Given the description of an element on the screen output the (x, y) to click on. 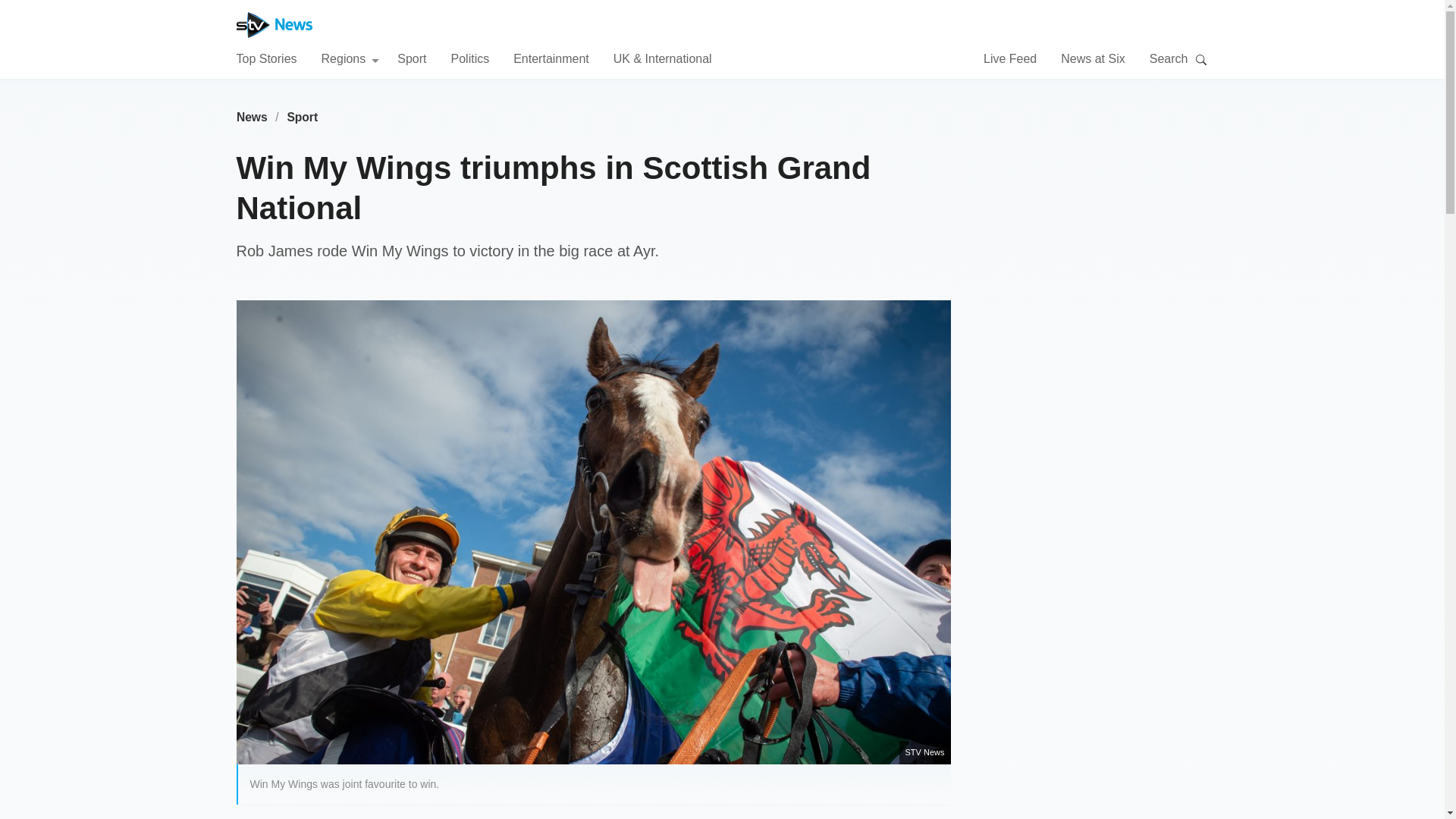
News at Six (1092, 57)
Politics (469, 57)
Live Feed (1010, 57)
Sport (302, 116)
Entertainment (551, 57)
Regions (350, 57)
News (252, 116)
Top Stories (266, 57)
Search (1201, 59)
